Given the description of an element on the screen output the (x, y) to click on. 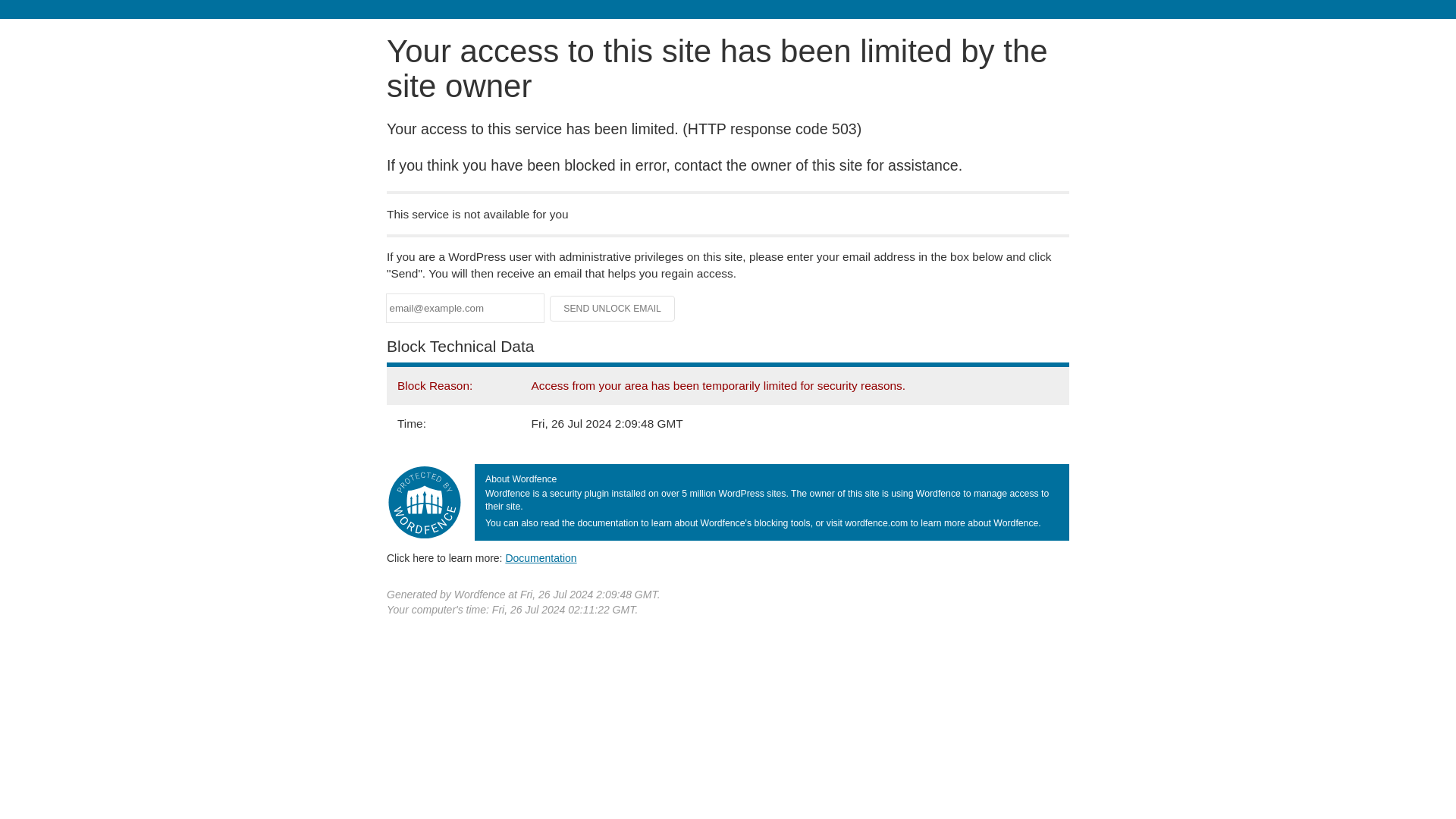
Send Unlock Email (612, 308)
Send Unlock Email (612, 308)
Documentation (540, 558)
